Given the description of an element on the screen output the (x, y) to click on. 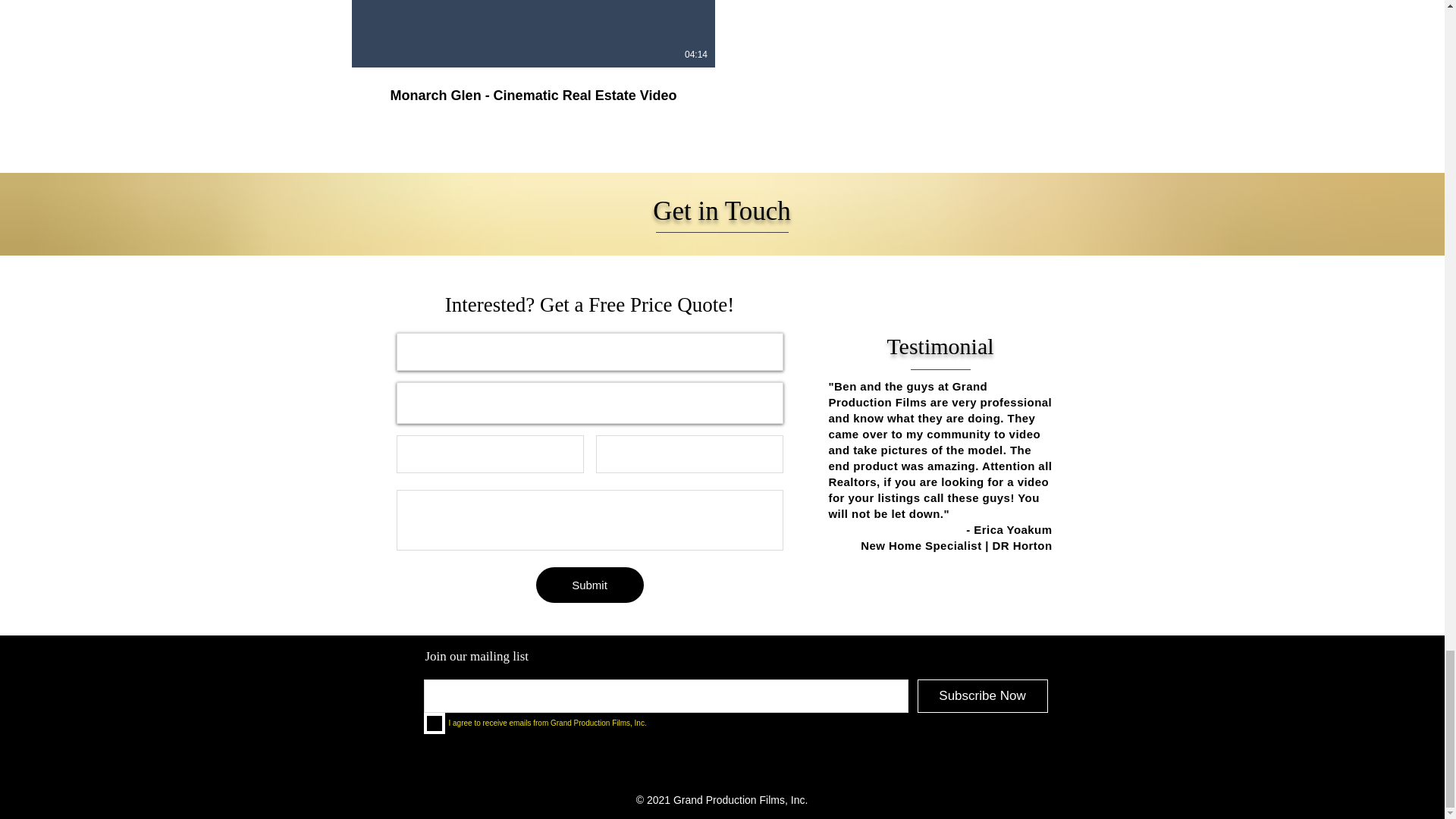
Submit (589, 584)
Monarch Glen - Cinematic Real Estate Video (533, 95)
Subscribe Now (982, 695)
Monarch Glen - Cinematic Real Estate Video (533, 86)
